Given the description of an element on the screen output the (x, y) to click on. 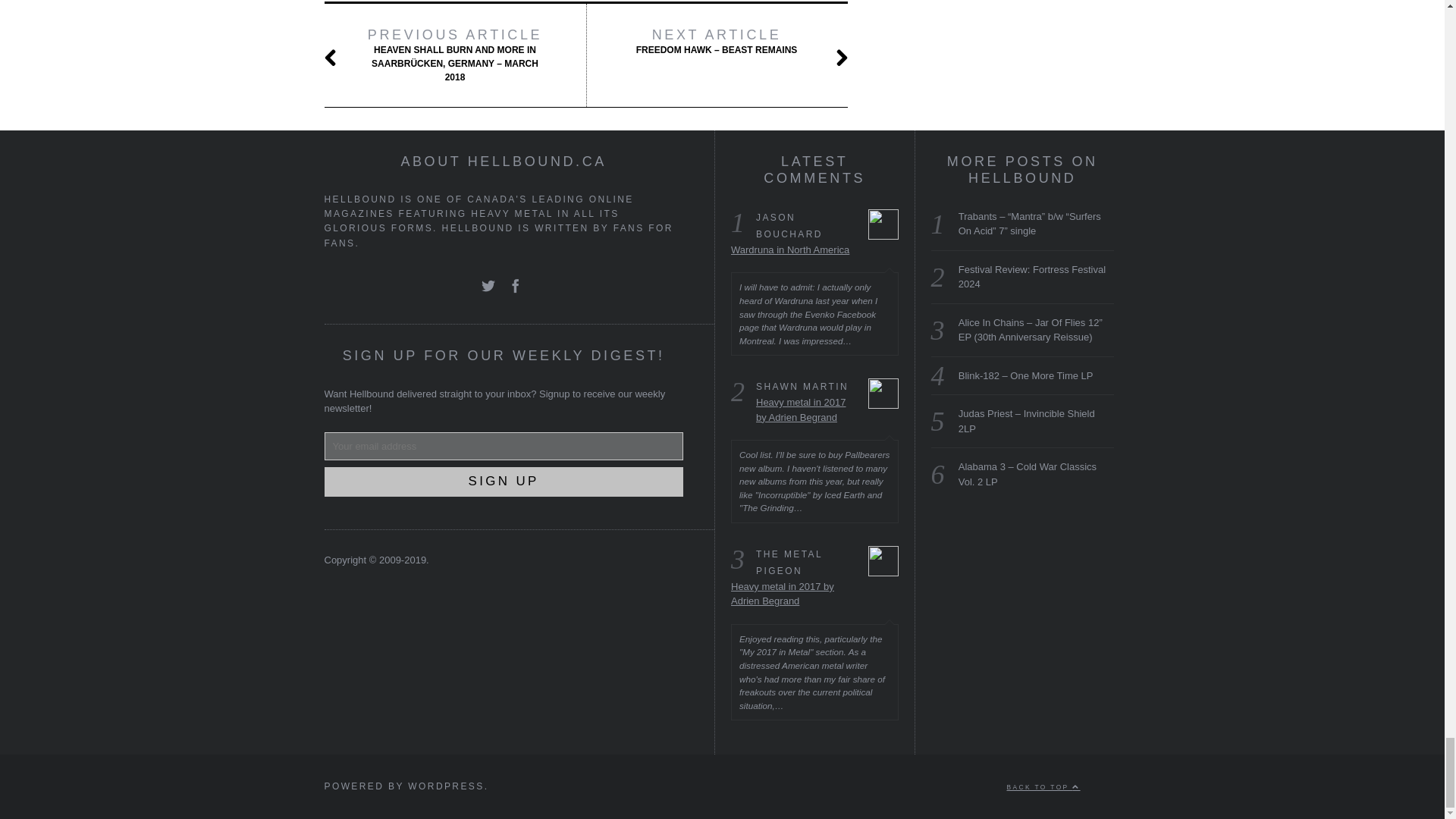
Sign up (503, 481)
